Given the description of an element on the screen output the (x, y) to click on. 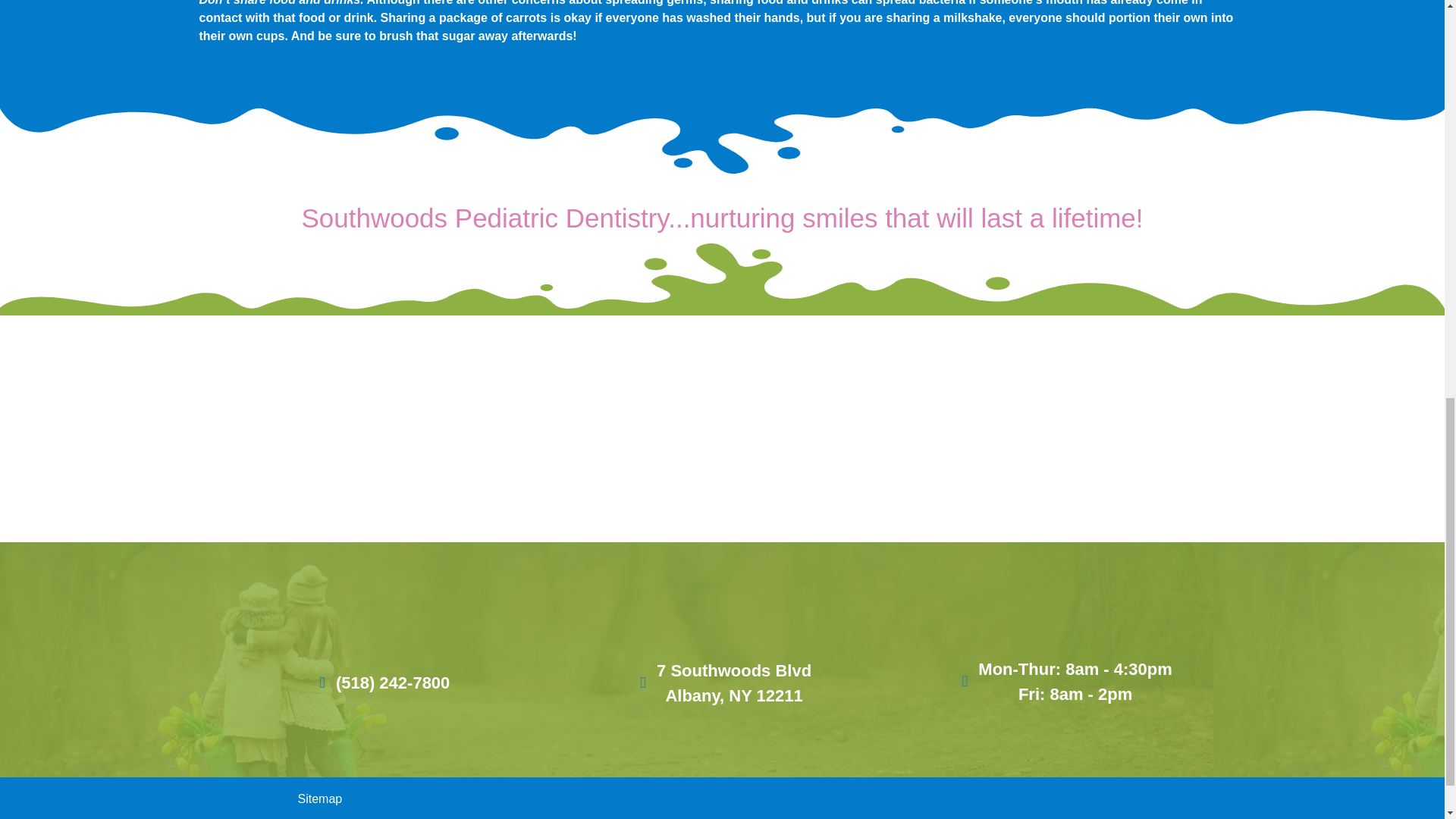
Sitemap (319, 798)
